Given the description of an element on the screen output the (x, y) to click on. 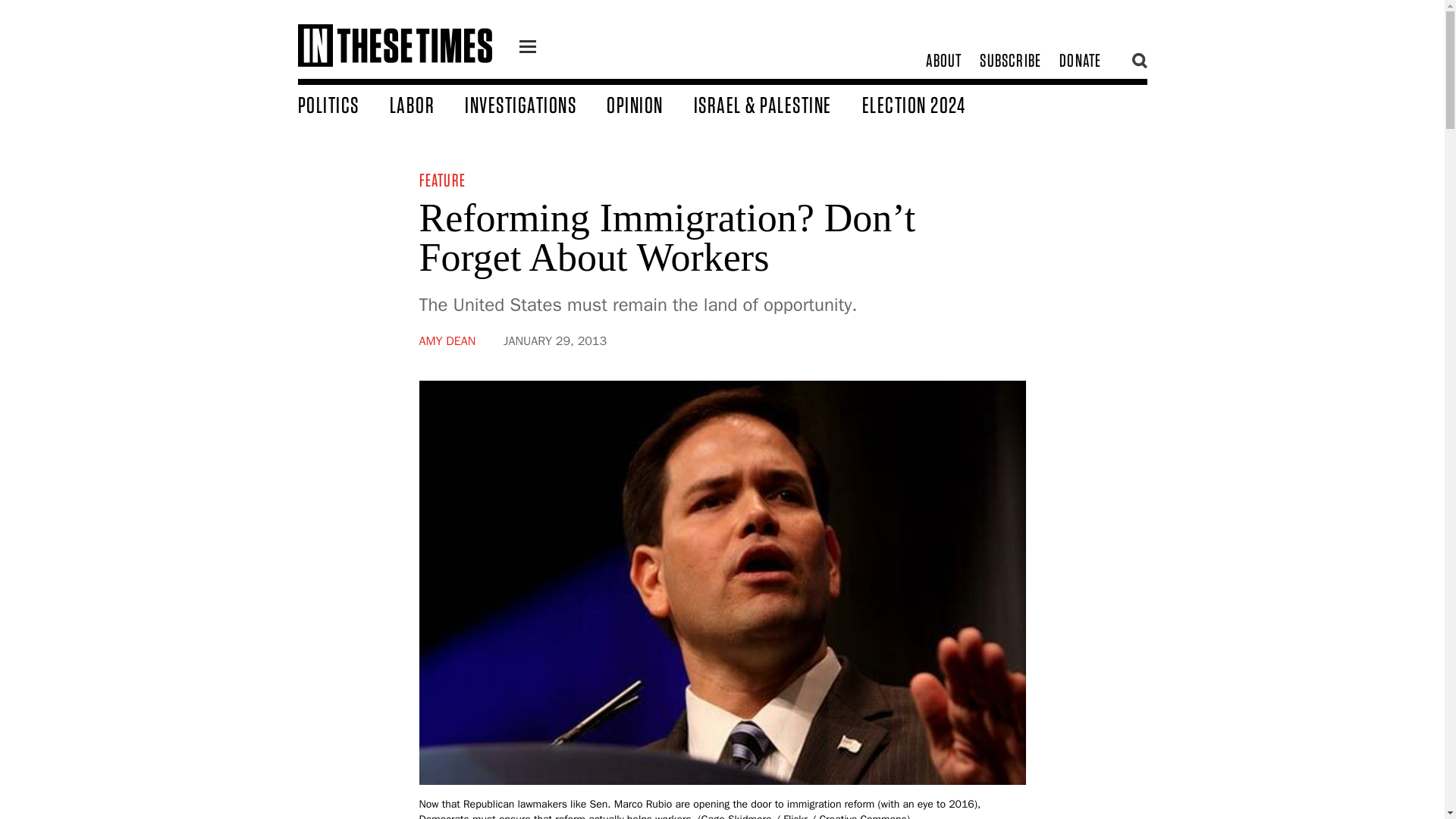
LABOR (427, 103)
DONATE (1079, 60)
ABOUT (944, 60)
Flickr (795, 816)
AMY DEAN (447, 340)
INVESTIGATIONS (535, 103)
POLITICS (342, 103)
SUBSCRIBE (1010, 60)
ELECTION 2024 (928, 103)
FEATURE (441, 179)
OPINION (650, 103)
